Given the description of an element on the screen output the (x, y) to click on. 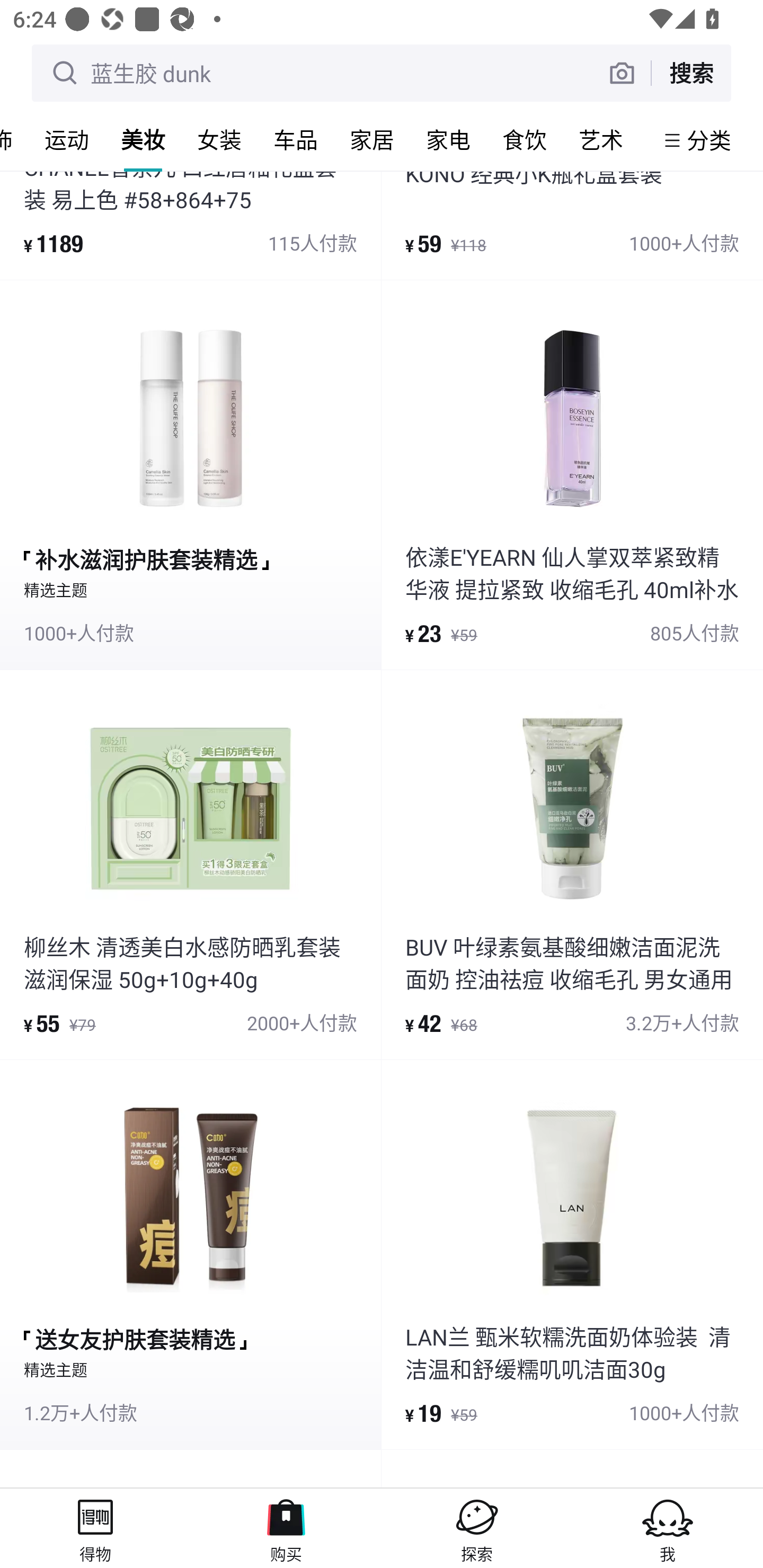
搜索 (690, 72)
运动 (66, 139)
美妆 (143, 139)
女装 (219, 139)
车品 (295, 139)
家居 (372, 139)
家电 (448, 139)
食饮 (524, 139)
艺术 (601, 139)
分类 (708, 139)
补水滋润护肤套装精选 精选主题 1000+人付款 (190, 474)
送女友护肤套装精选 精选主题 1.2万+人付款 (190, 1253)
得物 (95, 1528)
购买 (285, 1528)
探索 (476, 1528)
我 (667, 1528)
